Given the description of an element on the screen output the (x, y) to click on. 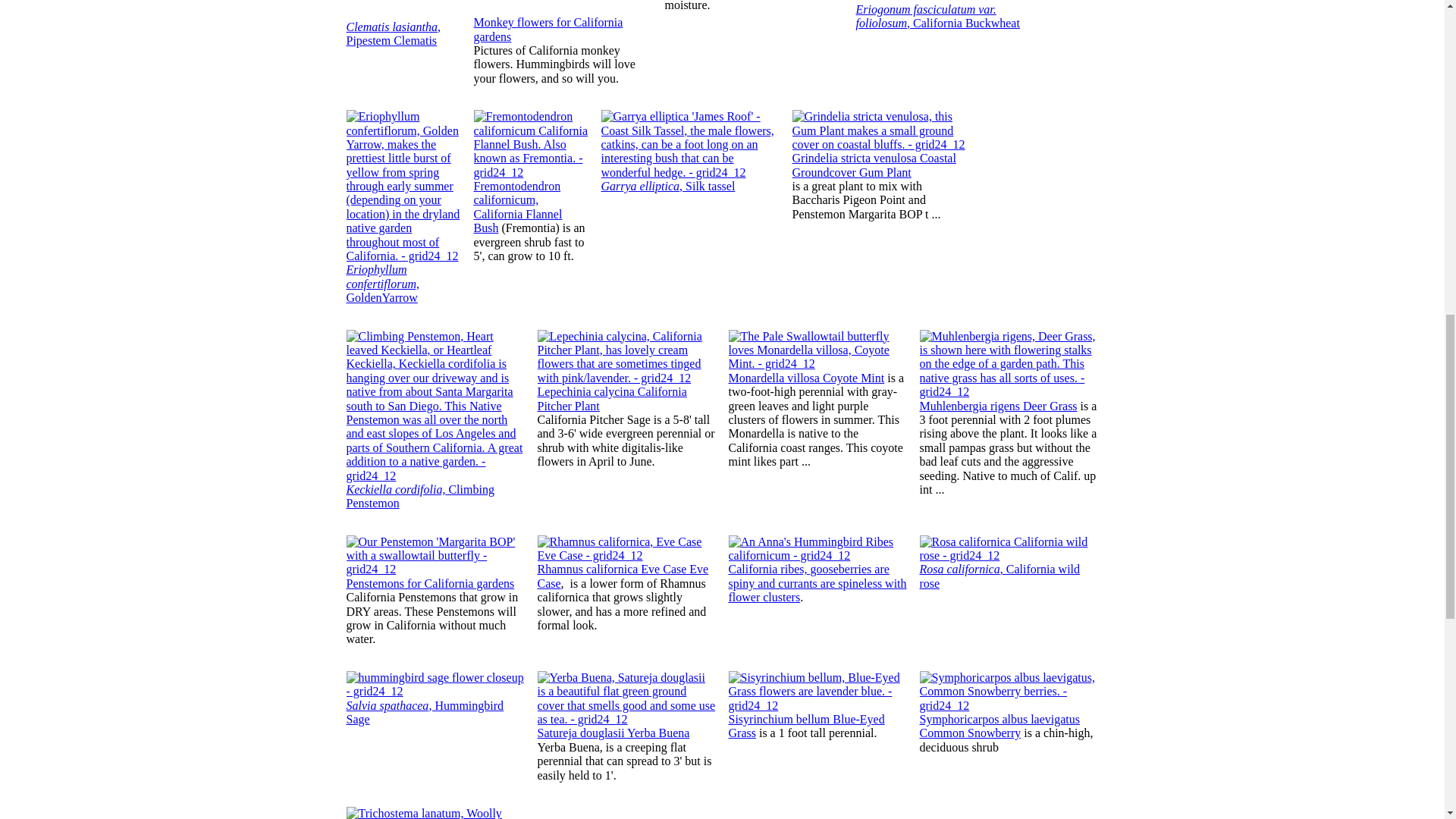
Fremontodendron californicum, California Flannel Bush (517, 206)
Garrya elliptica, Silk tassel (667, 185)
Eriogonum fasciculatum var. foliolosum, California Buckwheat (937, 23)
Monkey flowers for California gardens (548, 28)
Clematis lasiantha, Pipestem Clematis (392, 33)
Grindelia stricta venulosa Coastal Groundcover Gum Plant (873, 164)
Eriophyllum confertiflorum, GoldenYarrow (382, 282)
